Given the description of an element on the screen output the (x, y) to click on. 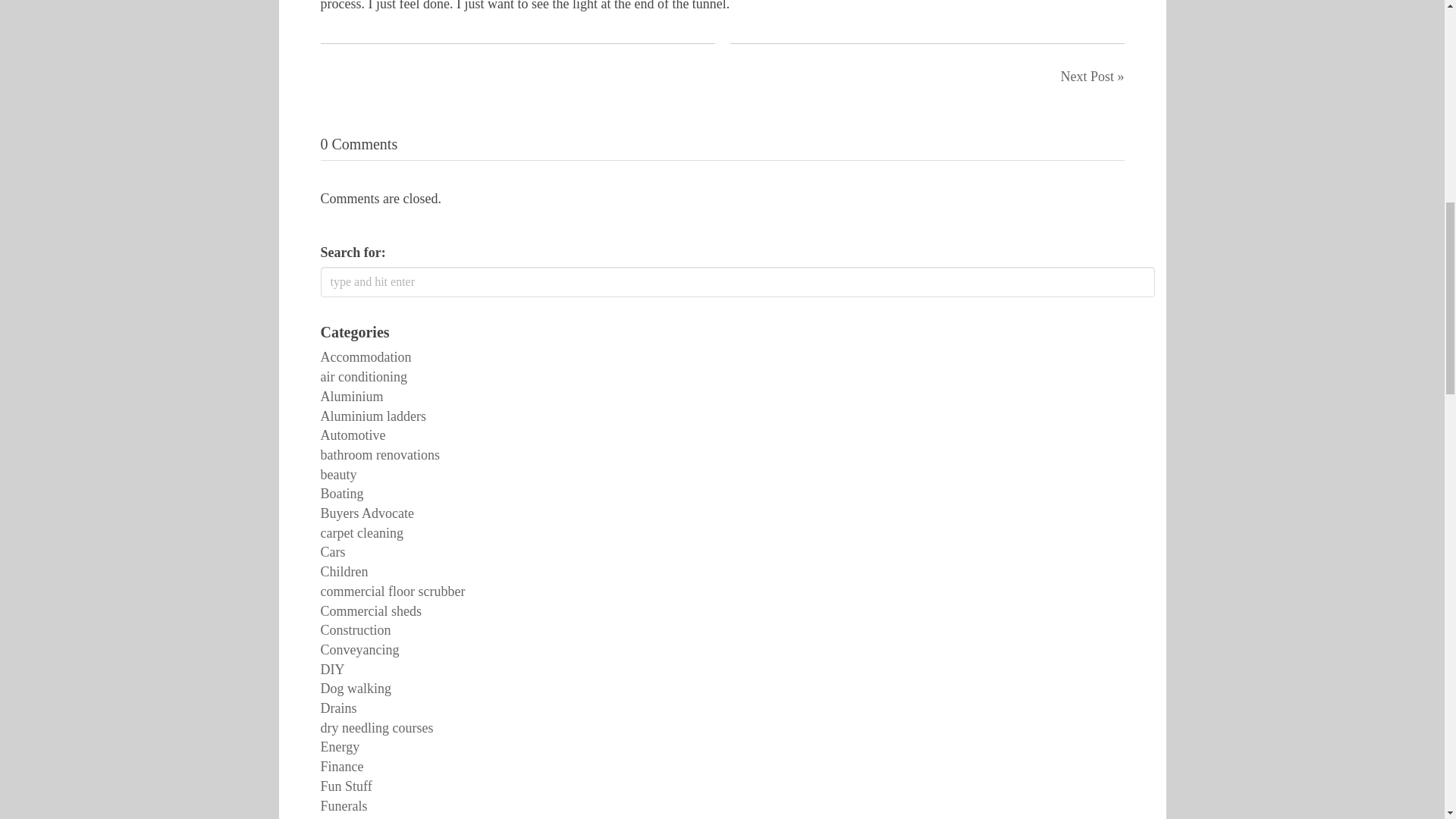
Aluminium (351, 396)
Fun Stuff (345, 785)
Finance (341, 766)
Accommodation (365, 356)
Construction (355, 630)
Buyers Advocate (366, 513)
bathroom renovations (379, 454)
Dog walking (355, 688)
beauty (338, 474)
Boating (341, 493)
